Given the description of an element on the screen output the (x, y) to click on. 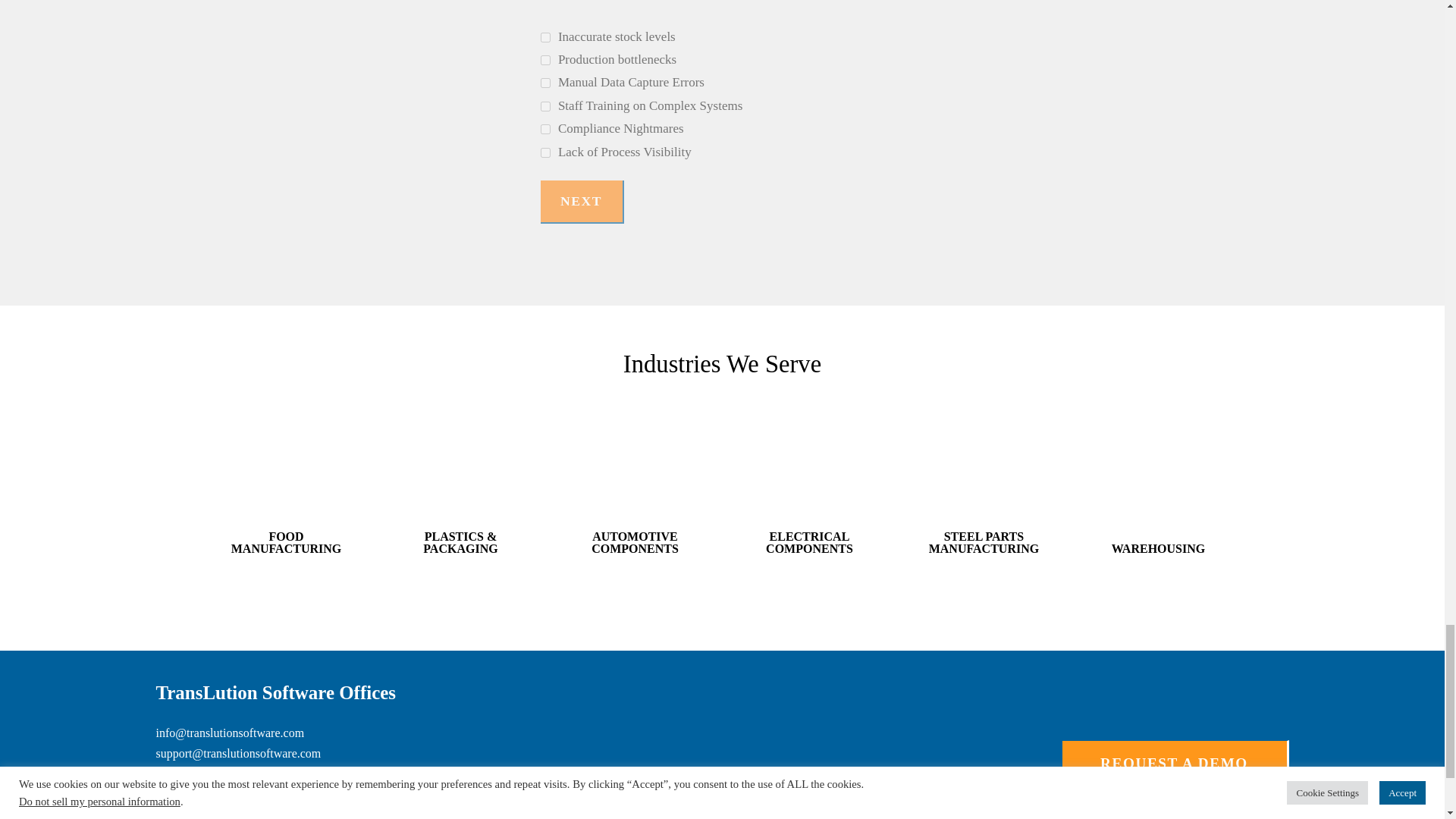
Compliance Nightmares (545, 129)
Lack of Process Visibility (545, 153)
Inaccurate stock levels (545, 37)
Staff Training on Complex Systems (545, 106)
Production bottlenecks (545, 60)
Next (581, 201)
Manual Data Capture Errors (545, 82)
